Given the description of an element on the screen output the (x, y) to click on. 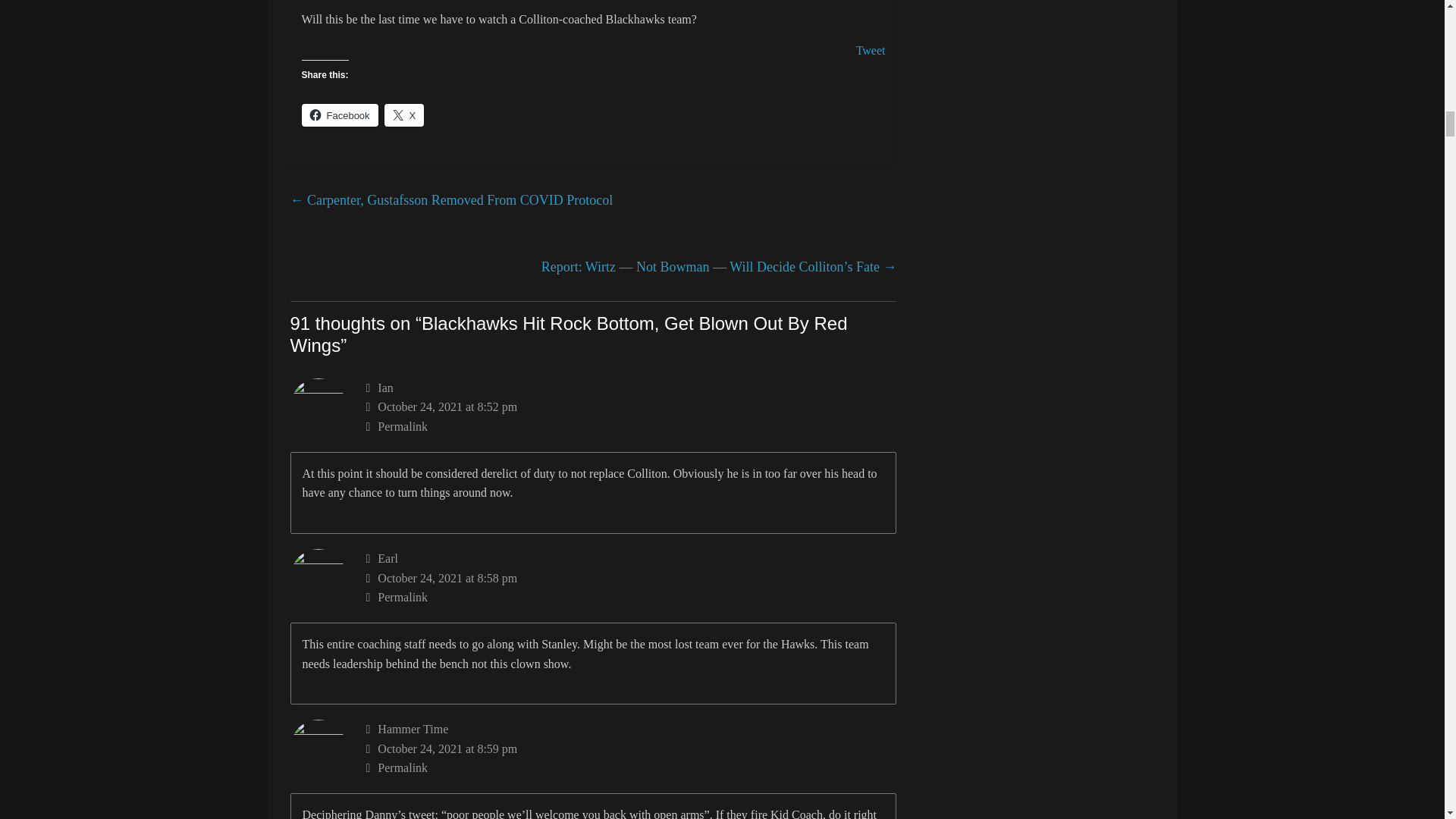
Hammer Time (412, 728)
Facebook (339, 115)
Click to share on Facebook (339, 115)
Permalink (630, 768)
Permalink (630, 426)
X (404, 115)
Tweet (870, 50)
Click to share on X (404, 115)
Permalink (630, 597)
